Given the description of an element on the screen output the (x, y) to click on. 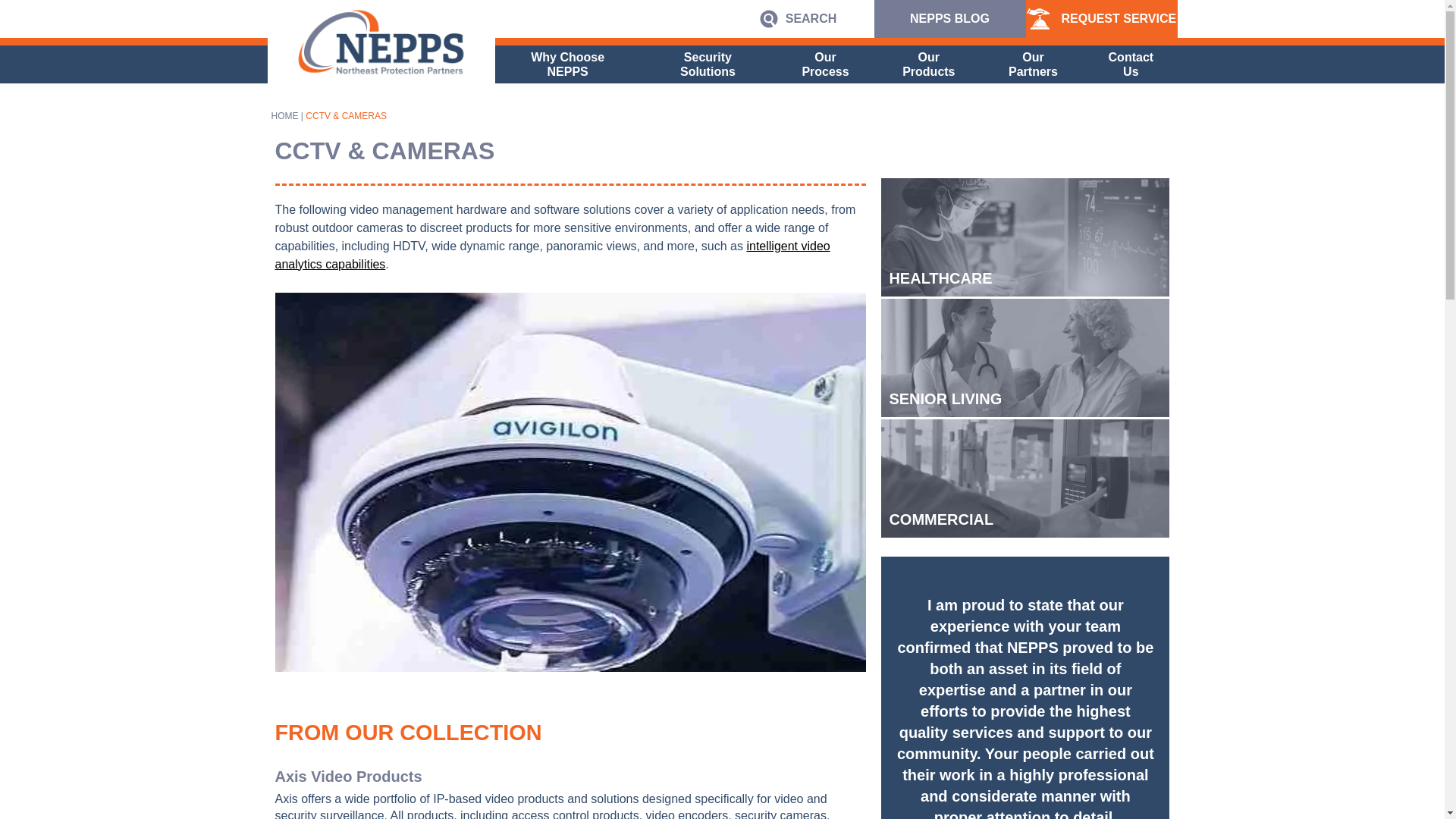
SEARCH (797, 18)
HOME (284, 115)
REQUEST SERVICE (1100, 18)
Contact Us (1130, 64)
HEALTHCARE (1024, 237)
Our Process (825, 64)
Our Products (928, 64)
intelligent video analytics capabilities (552, 255)
Our Partners (1032, 64)
Why Choose NEPPS (567, 64)
NEPPS BLOG (949, 18)
Security Solutions (707, 64)
COMMERCIAL (1024, 478)
SENIOR LIVING (1024, 357)
